Given the description of an element on the screen output the (x, y) to click on. 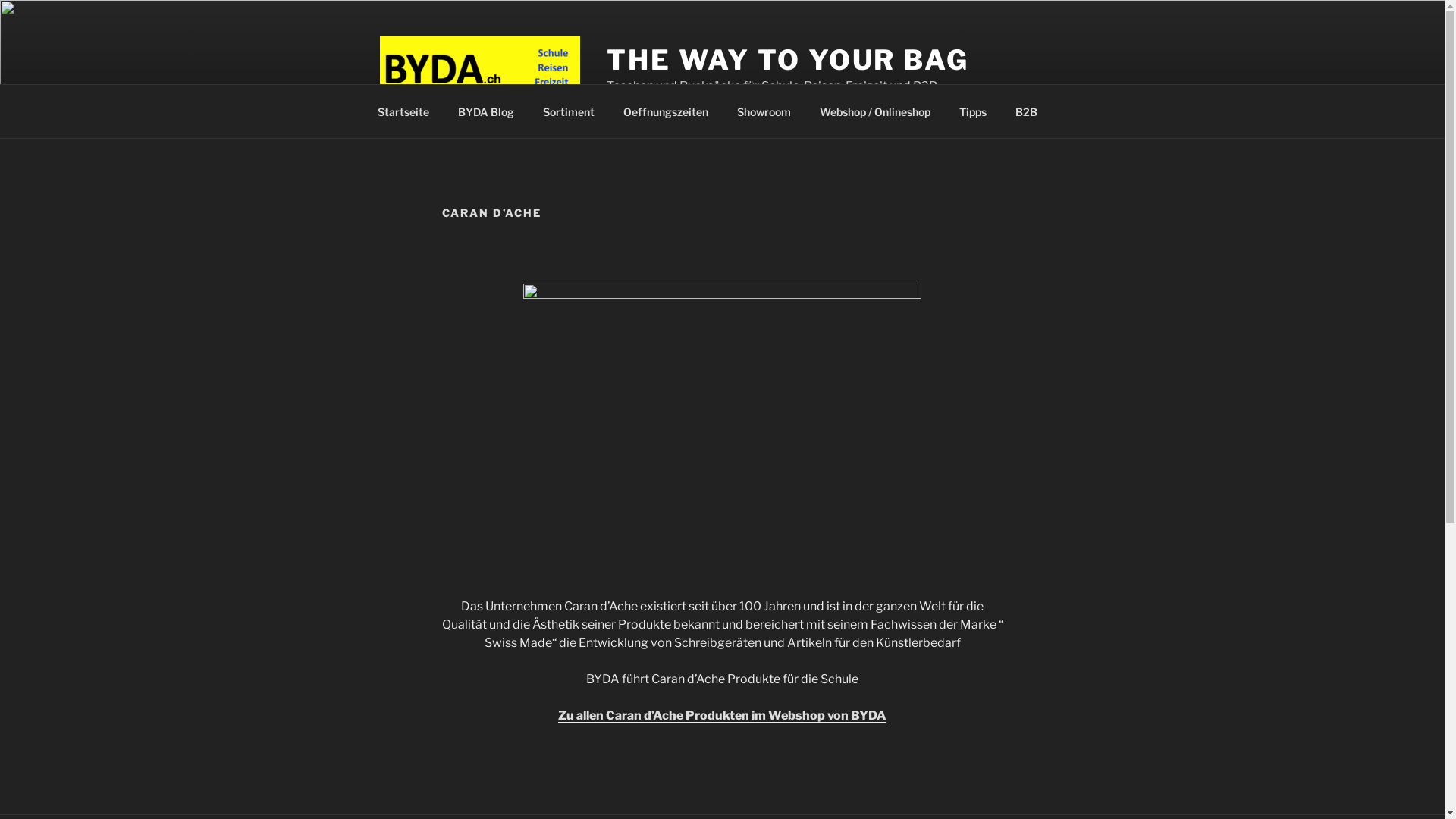
Startseite Element type: text (403, 110)
BYDA Blog Element type: text (485, 110)
B2B Element type: text (1026, 110)
Oeffnungszeiten Element type: text (665, 110)
Sortiment Element type: text (568, 110)
Tipps Element type: text (973, 110)
Webshop / Onlineshop Element type: text (875, 110)
THE WAY TO YOUR BAG Element type: text (787, 59)
Showroom Element type: text (763, 110)
